Given the description of an element on the screen output the (x, y) to click on. 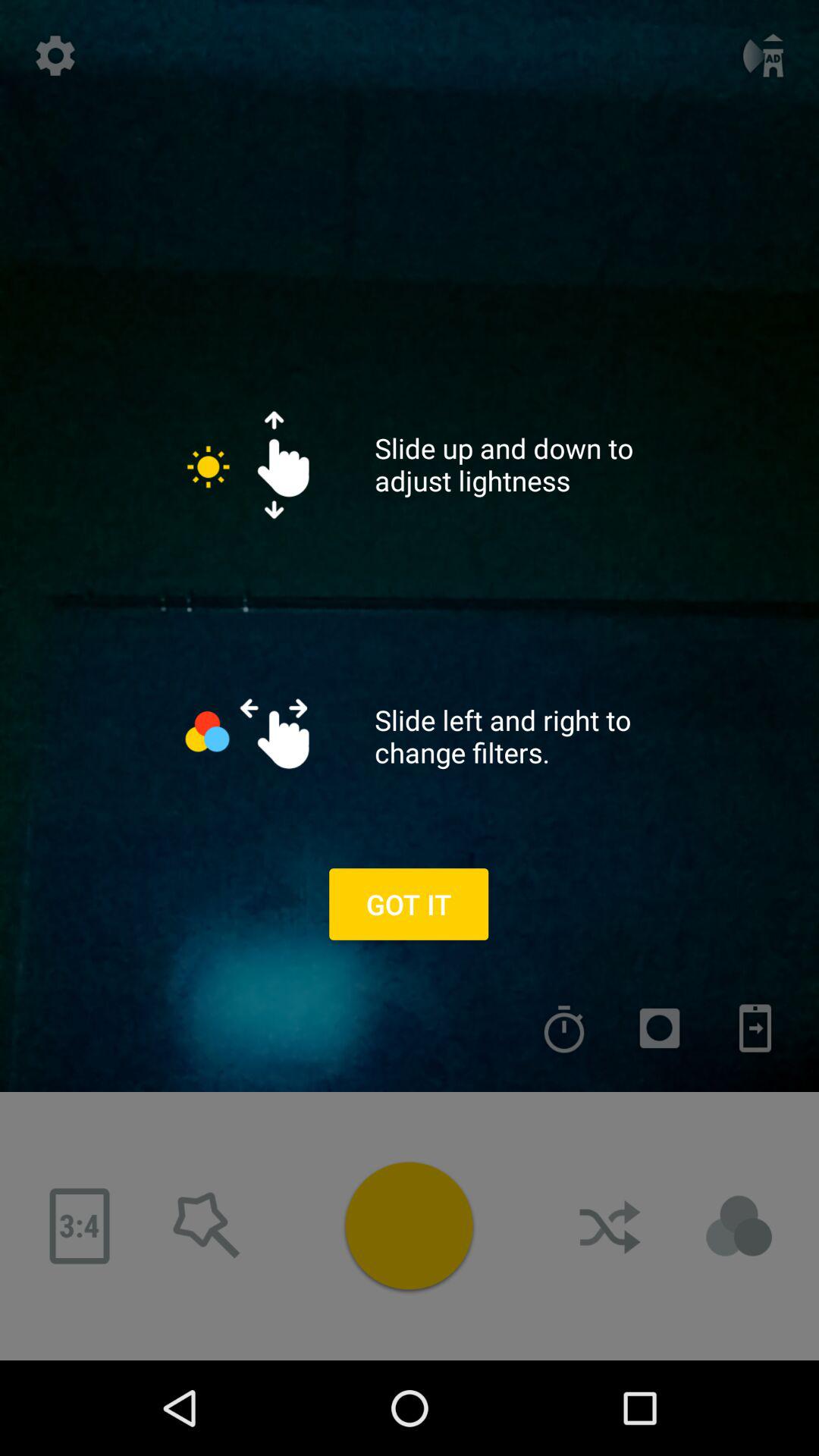
settings button (55, 55)
